Given the description of an element on the screen output the (x, y) to click on. 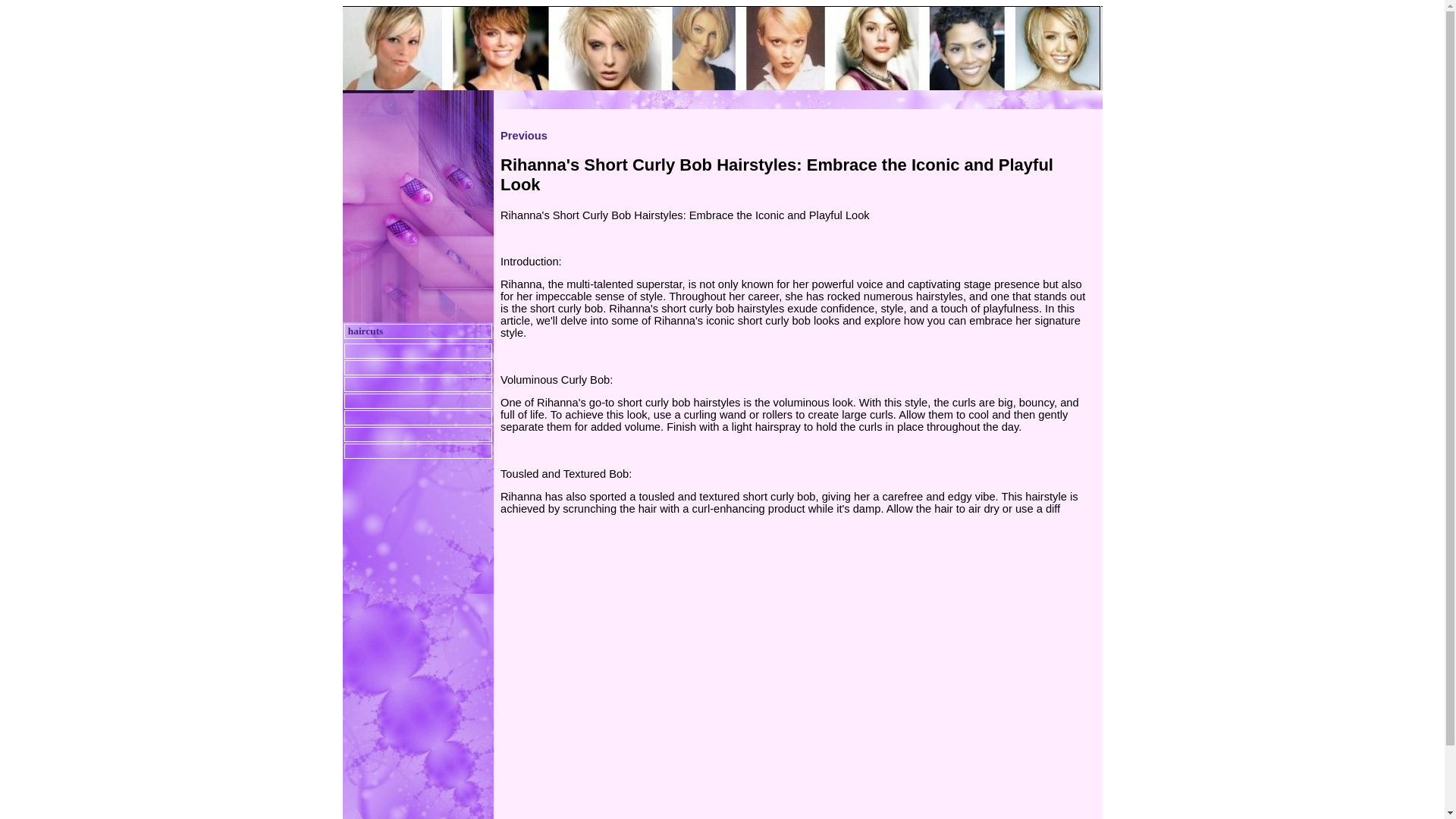
Previous (523, 135)
haircuts (364, 330)
